Given the description of an element on the screen output the (x, y) to click on. 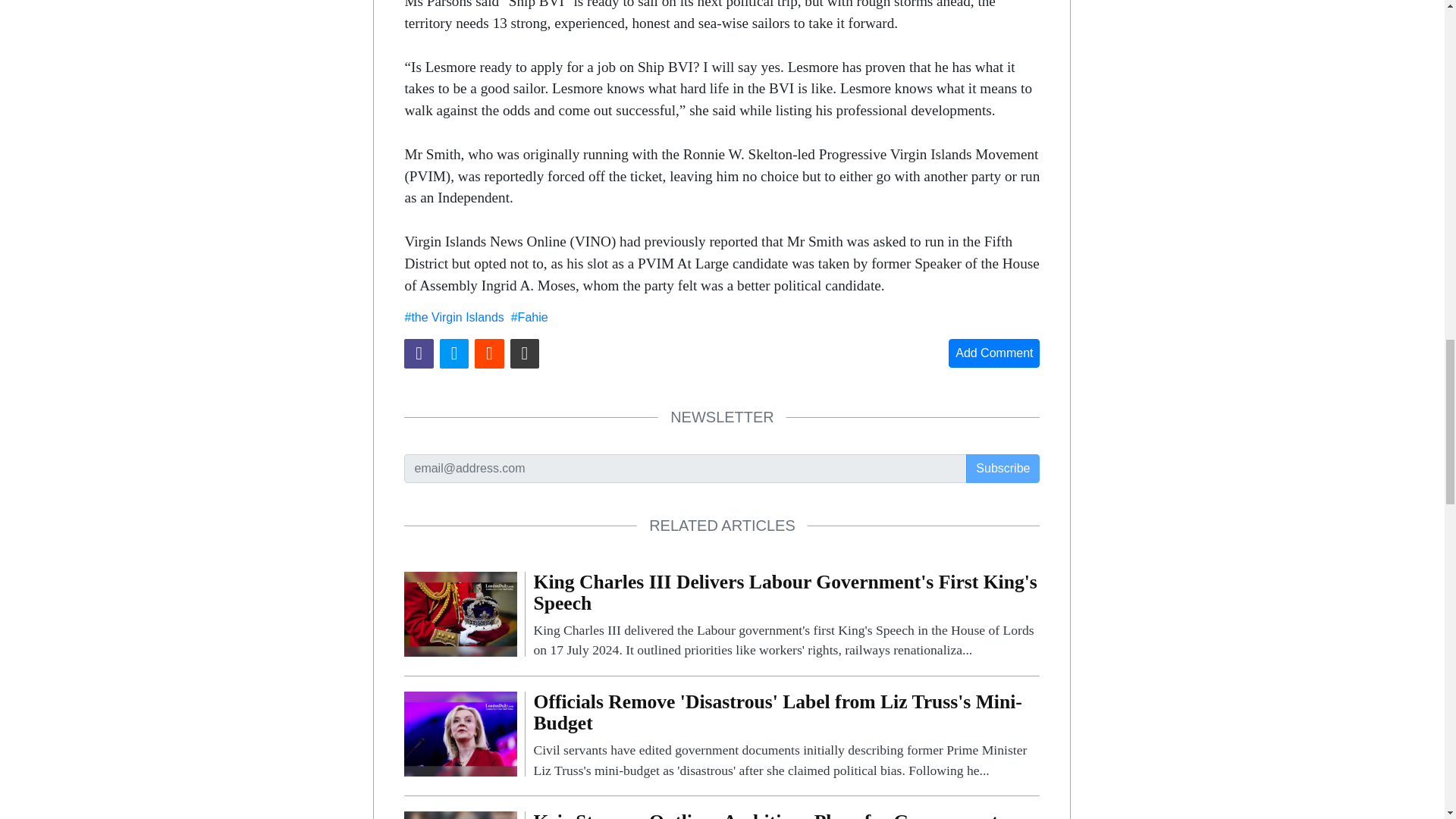
Subscribe (1002, 468)
Add Comment (994, 353)
Keir Starmer Outlines Ambitious Plans for Government (785, 815)
